Given the description of an element on the screen output the (x, y) to click on. 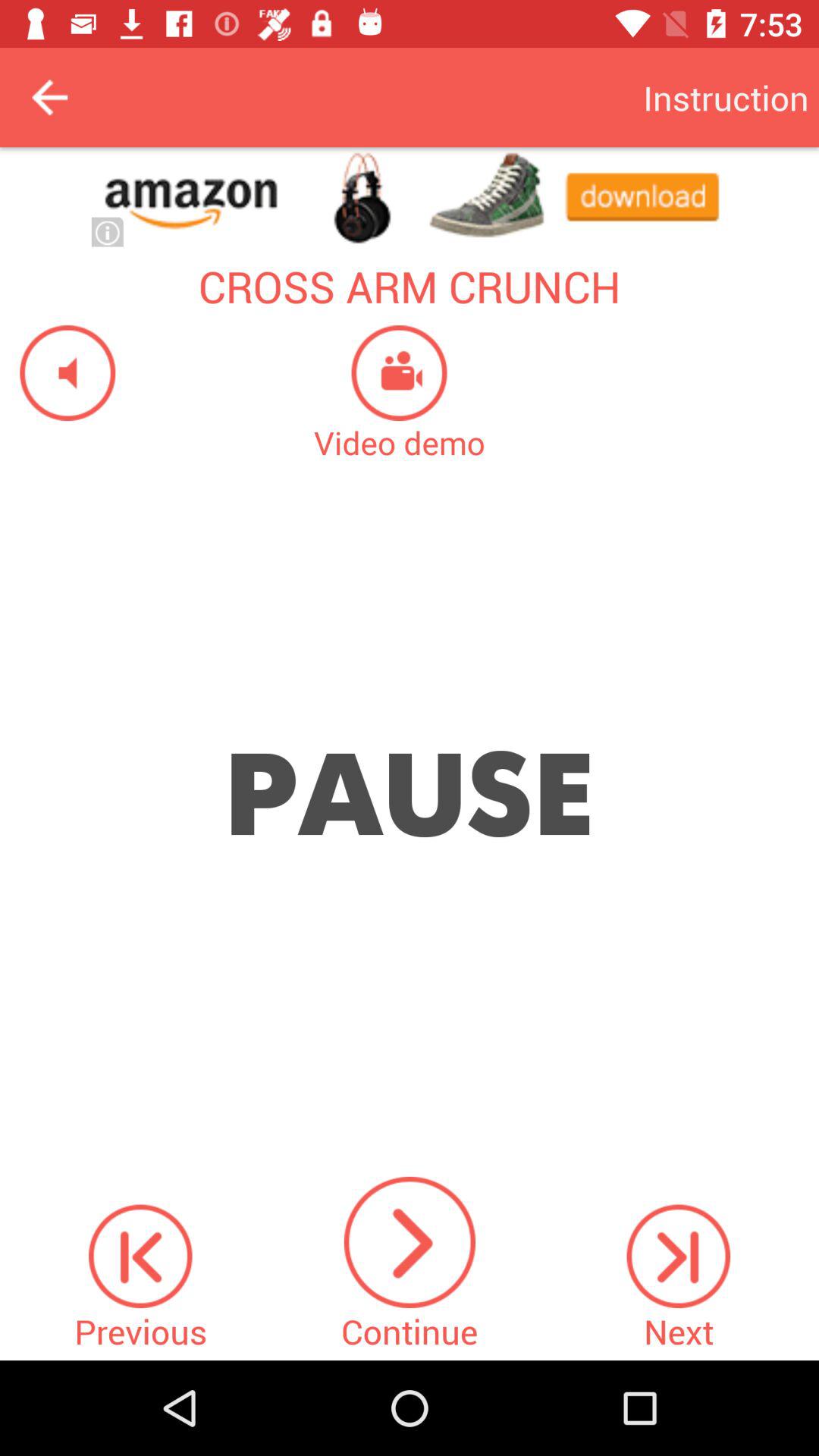
open advertisement (409, 196)
